Given the description of an element on the screen output the (x, y) to click on. 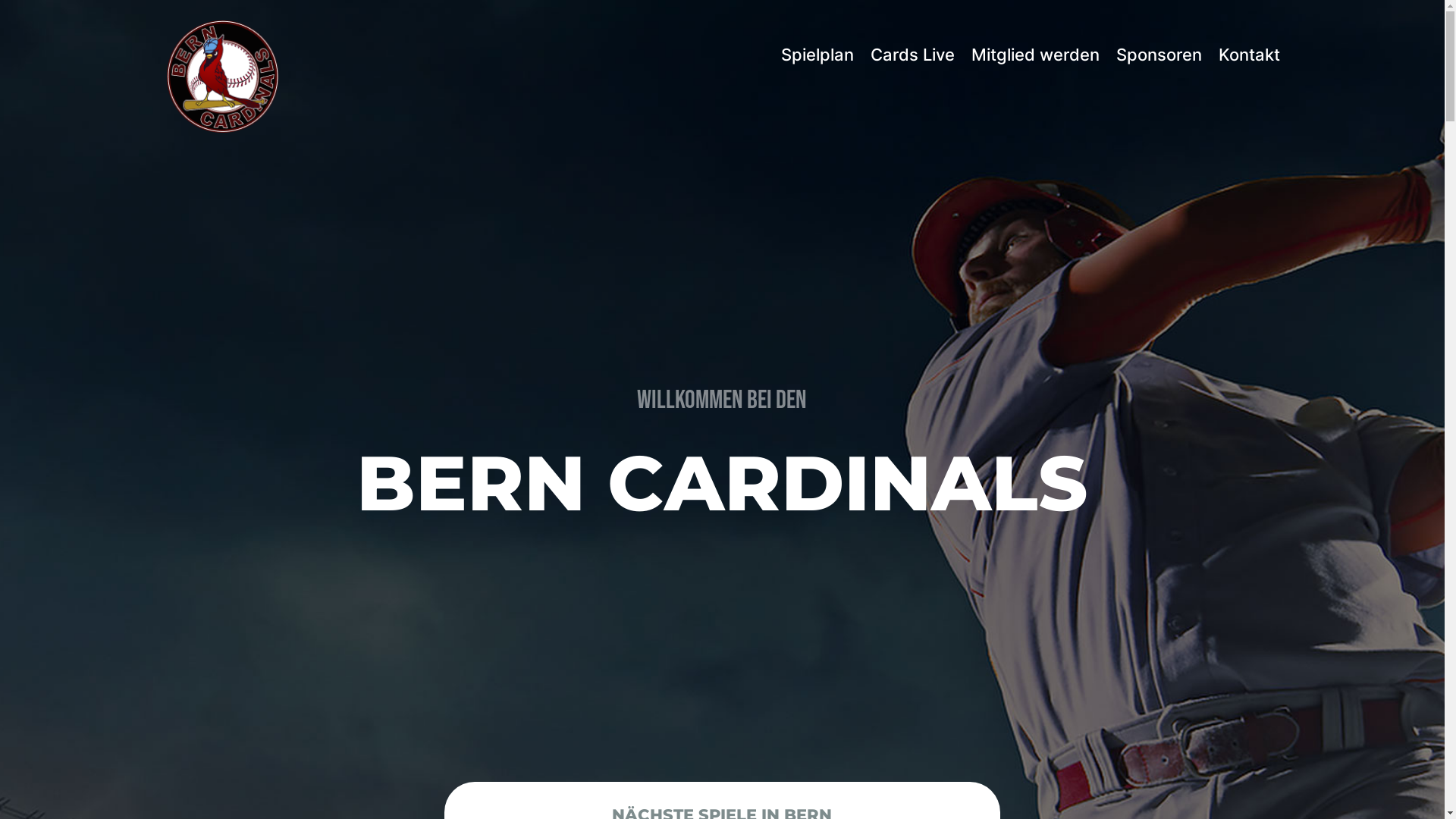
Mitglied werden Element type: text (1035, 54)
Sponsoren Element type: text (1158, 54)
Spielplan Element type: text (817, 54)
Kontakt Element type: text (1249, 54)
Cards Live Element type: text (912, 54)
